Given the description of an element on the screen output the (x, y) to click on. 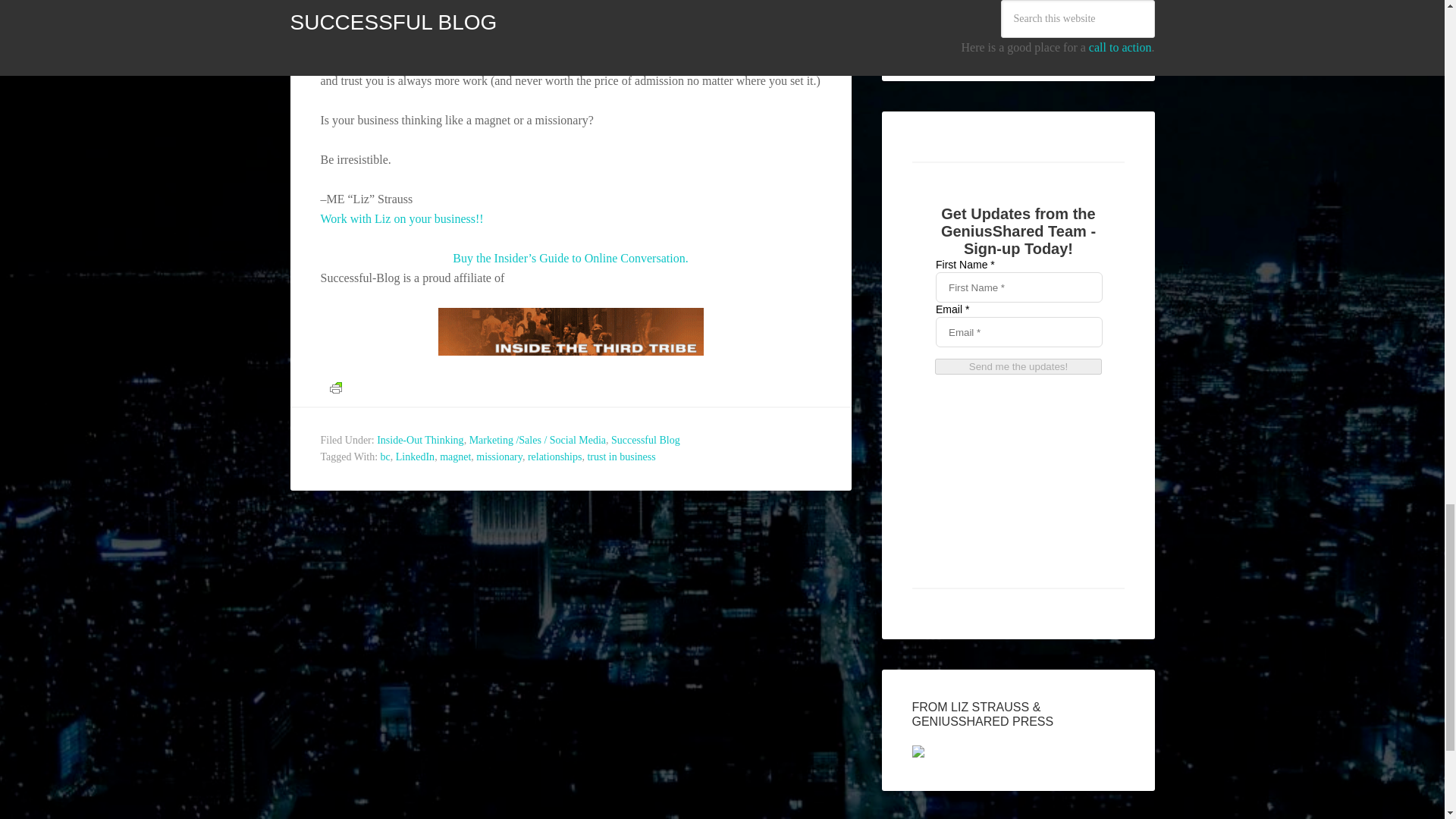
missionary (499, 456)
magnet (454, 456)
trust in business (620, 456)
LinkedIn (414, 456)
Inside-Out Thinking (420, 439)
Successful Blog (645, 439)
Work with Liz on your business!! (401, 218)
third-tribe-marketing (570, 331)
relationships (554, 456)
